Given the description of an element on the screen output the (x, y) to click on. 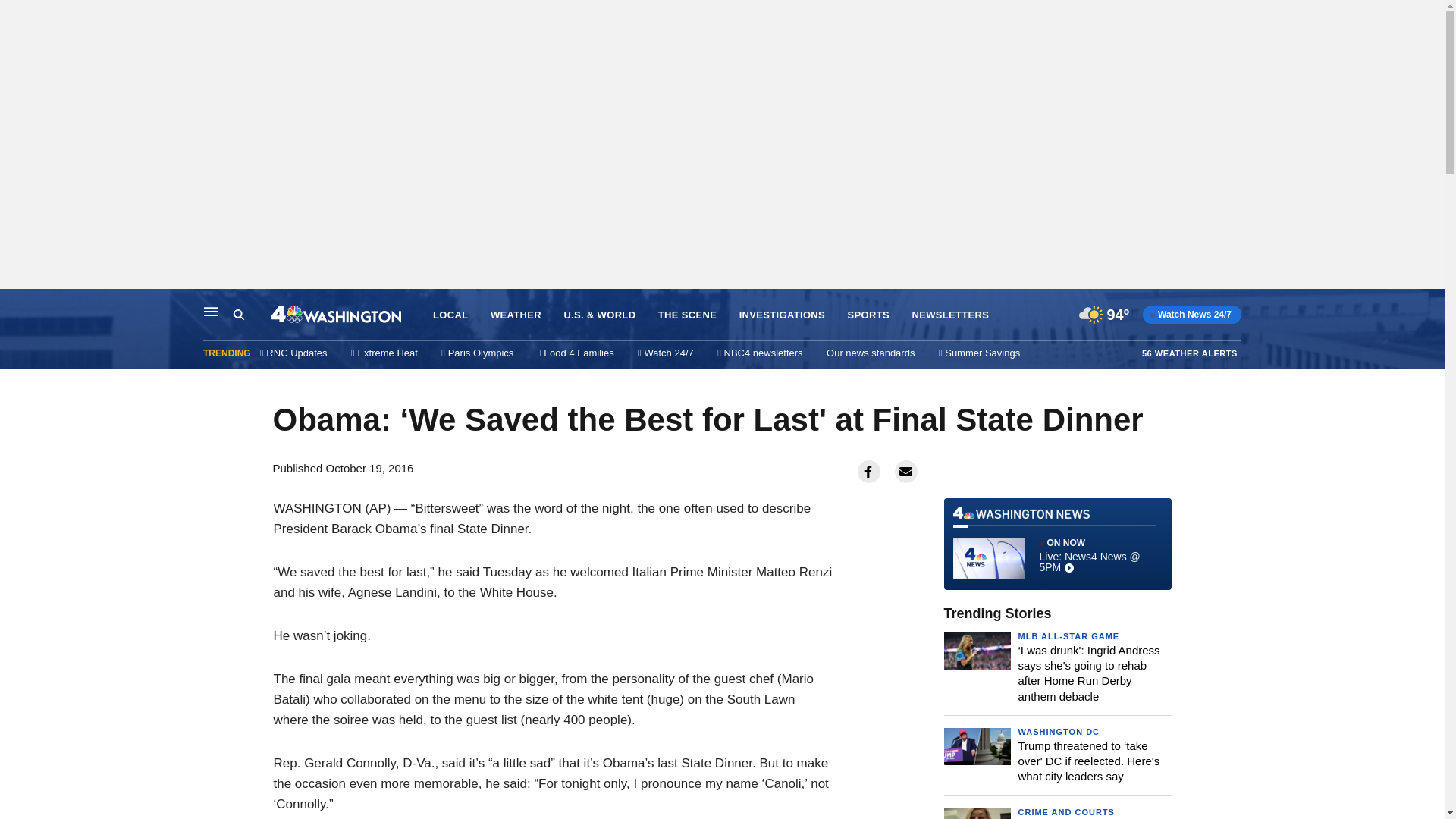
THE SCENE (687, 315)
Search (252, 314)
WEATHER (515, 315)
SPORTS (868, 315)
Search (238, 314)
INVESTIGATIONS (782, 315)
56 WEATHER ALERTS (1189, 352)
Main Navigation (210, 311)
Skip to content (16, 304)
LOCAL (449, 315)
NEWSLETTERS (949, 315)
Our news standards (870, 352)
